Given the description of an element on the screen output the (x, y) to click on. 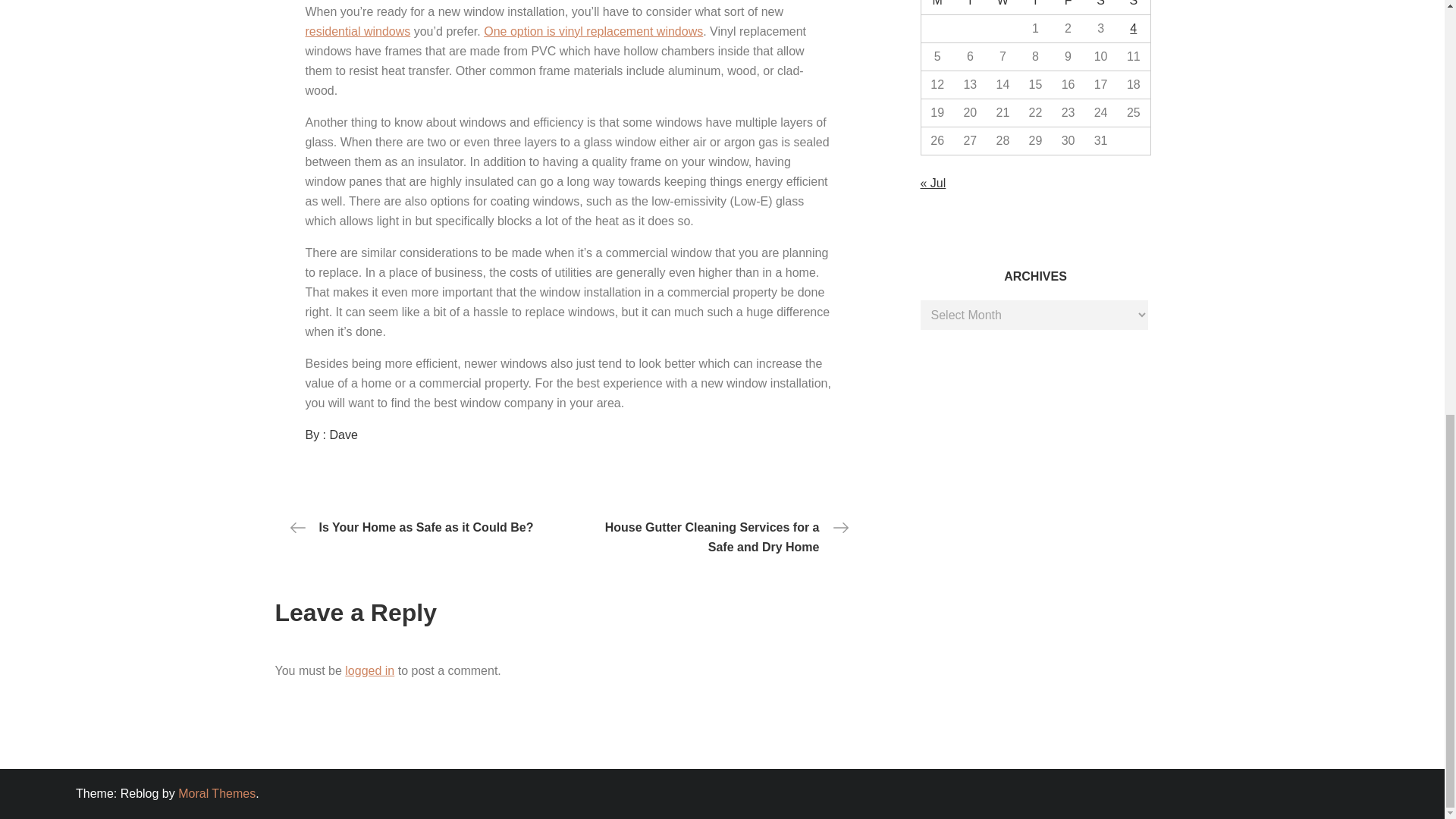
One option is vinyl replacement windows (593, 31)
Thursday (1035, 7)
Saturday (1100, 7)
residential windows (357, 31)
Friday (1067, 7)
Vinyl replacement windows (357, 31)
Windows chicago (593, 31)
Tuesday (970, 7)
logged in (369, 670)
Moral Themes (216, 793)
